Given the description of an element on the screen output the (x, y) to click on. 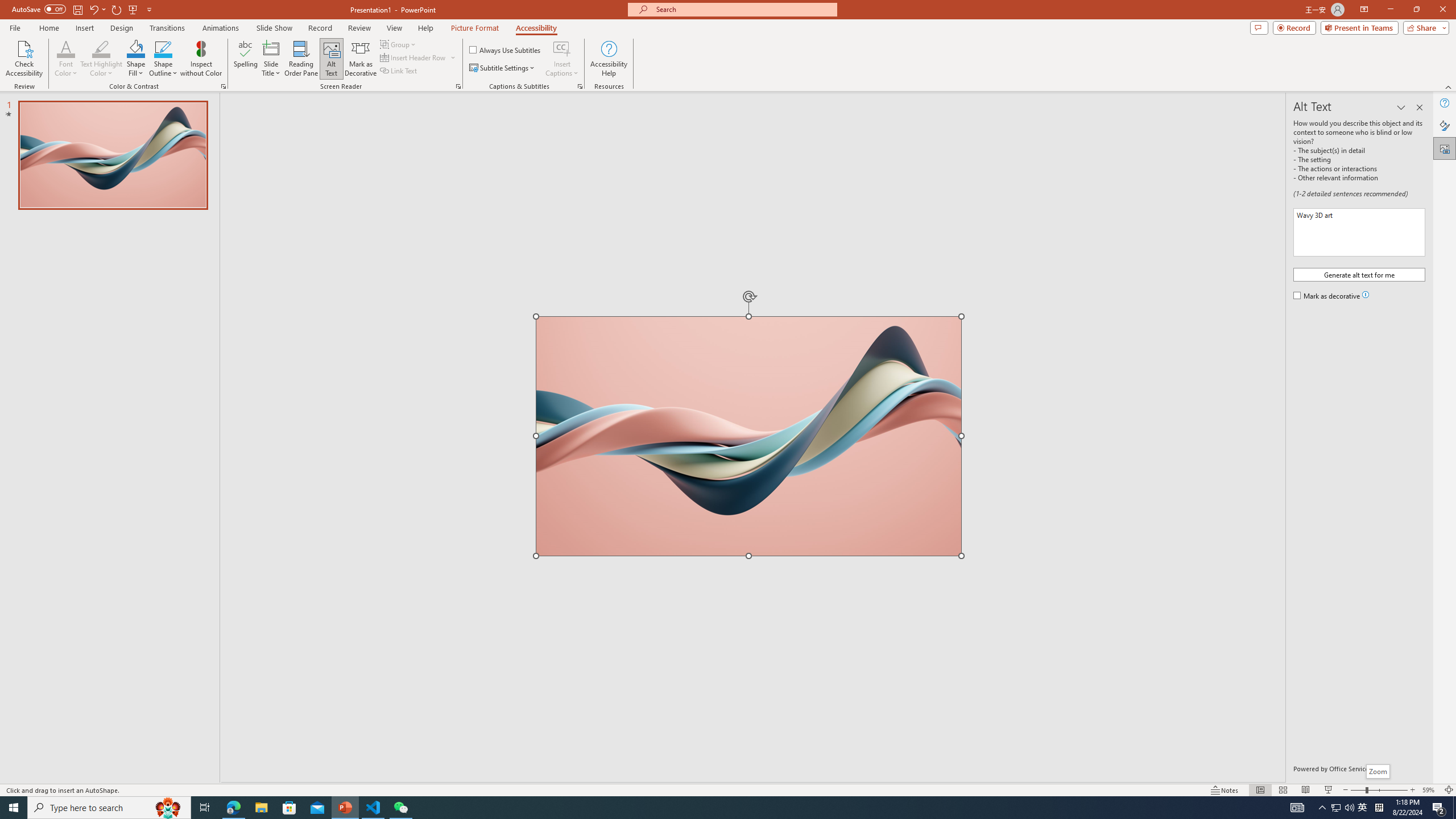
Generate alt text for me (1358, 274)
Accessibility Help (608, 58)
Description (1358, 231)
